Given the description of an element on the screen output the (x, y) to click on. 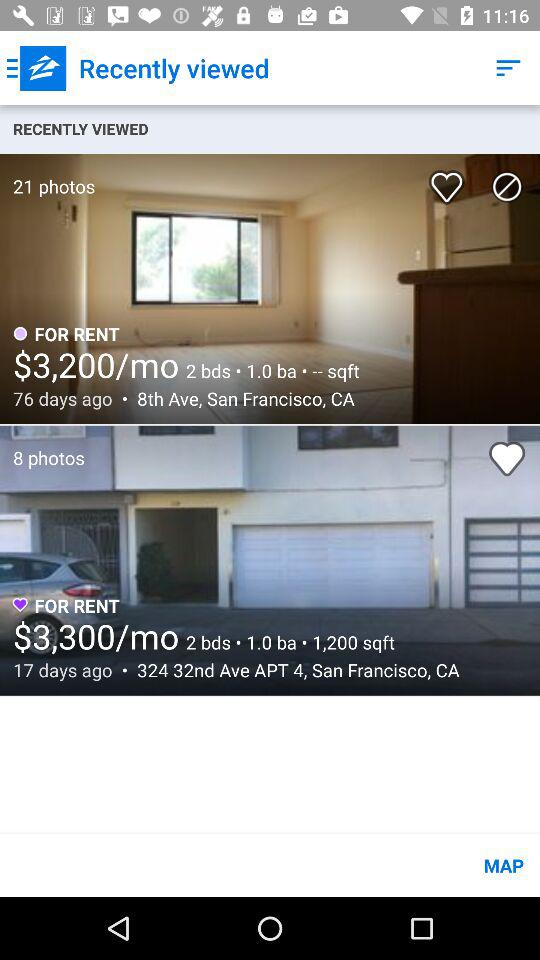
tap item on the right (507, 458)
